Given the description of an element on the screen output the (x, y) to click on. 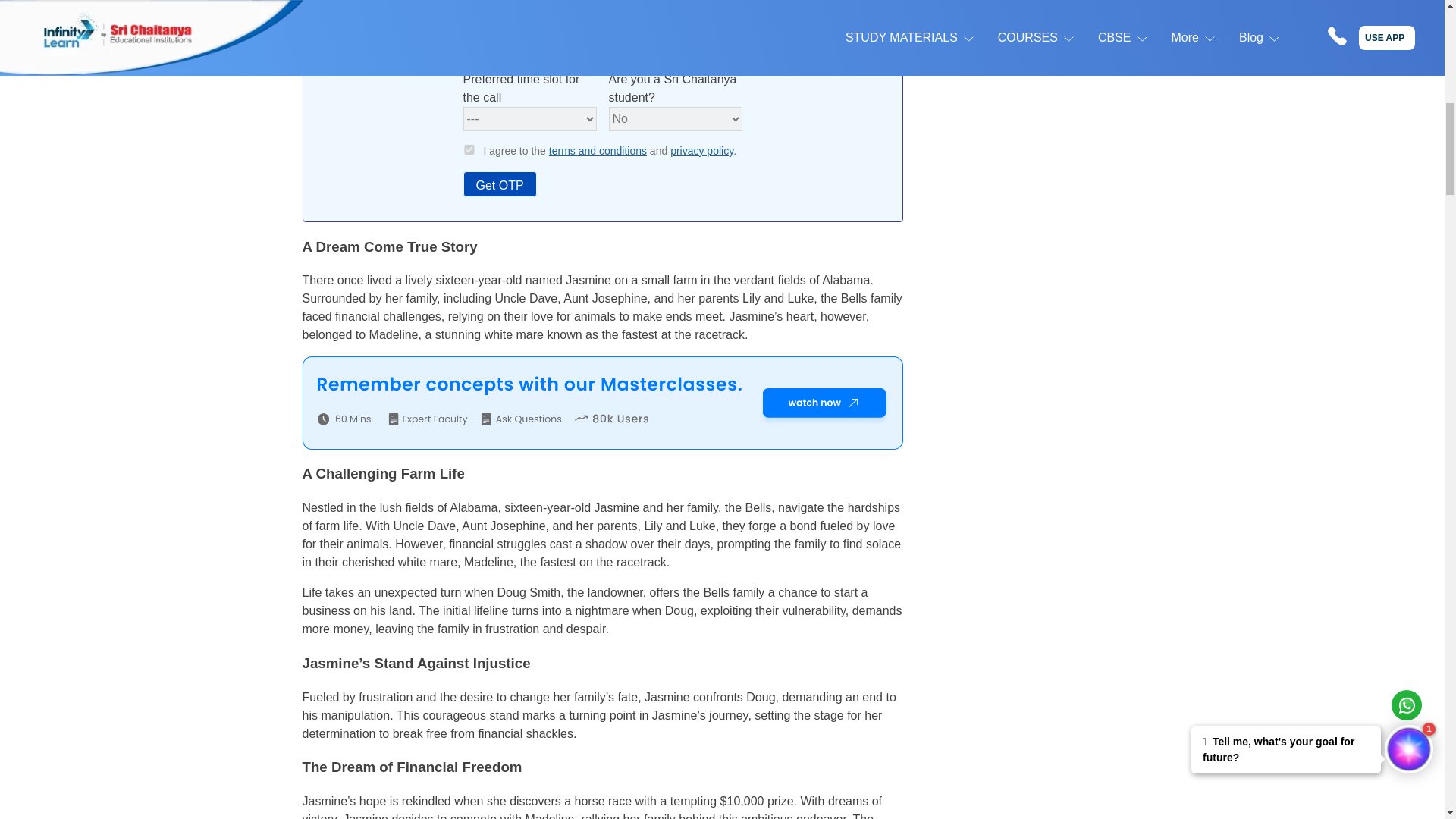
Books (1339, 198)
Test Series (1252, 218)
1 (1250, 411)
Self Learning (1339, 218)
1 (468, 149)
Get OTP (499, 184)
Live Classes (1252, 198)
Get OTP (1281, 462)
